Given the description of an element on the screen output the (x, y) to click on. 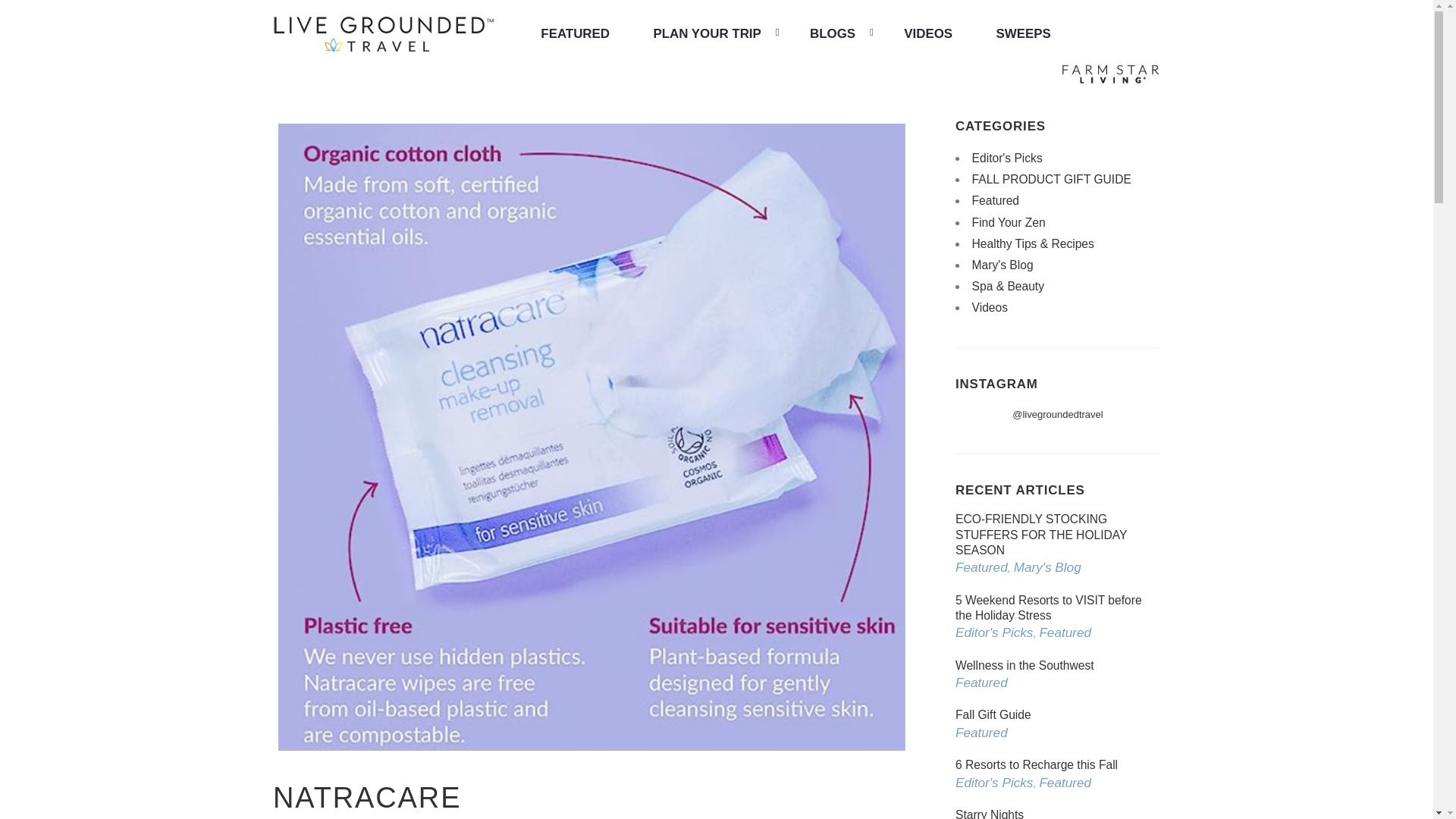
FEATURED (574, 34)
VIDEOS (927, 34)
BLOGS (834, 34)
PLAN YOUR TRIP (708, 34)
SWEEPS (1023, 34)
